Given the description of an element on the screen output the (x, y) to click on. 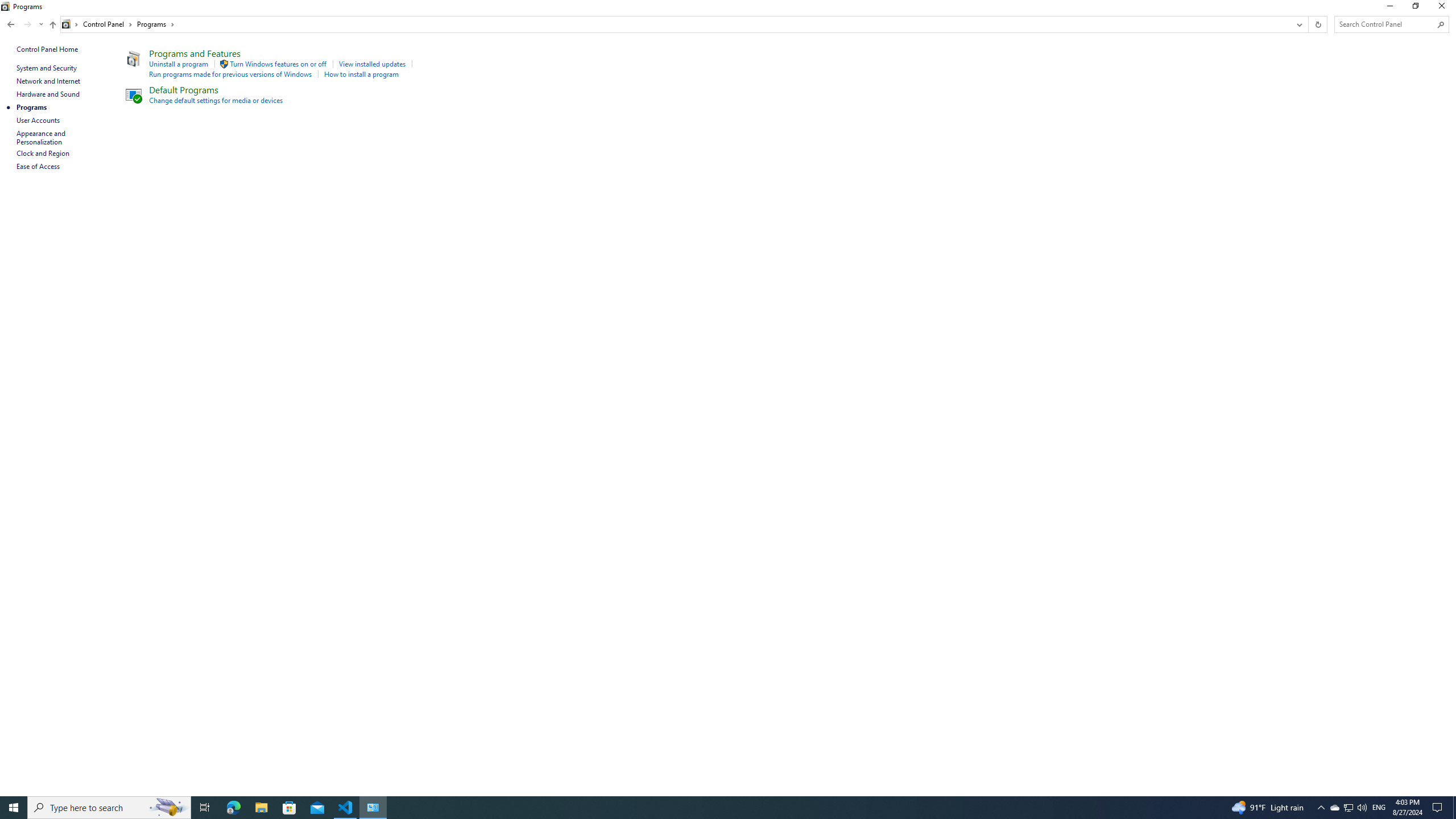
Address: Control Panel\Programs (675, 23)
Icon (223, 63)
Recent locations (40, 23)
All locations (70, 23)
Notification Chevron (1320, 807)
Programs (1347, 807)
Clock and Region (155, 23)
Programs and Features (42, 153)
Hardware and Sound (194, 52)
Show desktop (48, 94)
Type here to search (1454, 807)
